Given the description of an element on the screen output the (x, y) to click on. 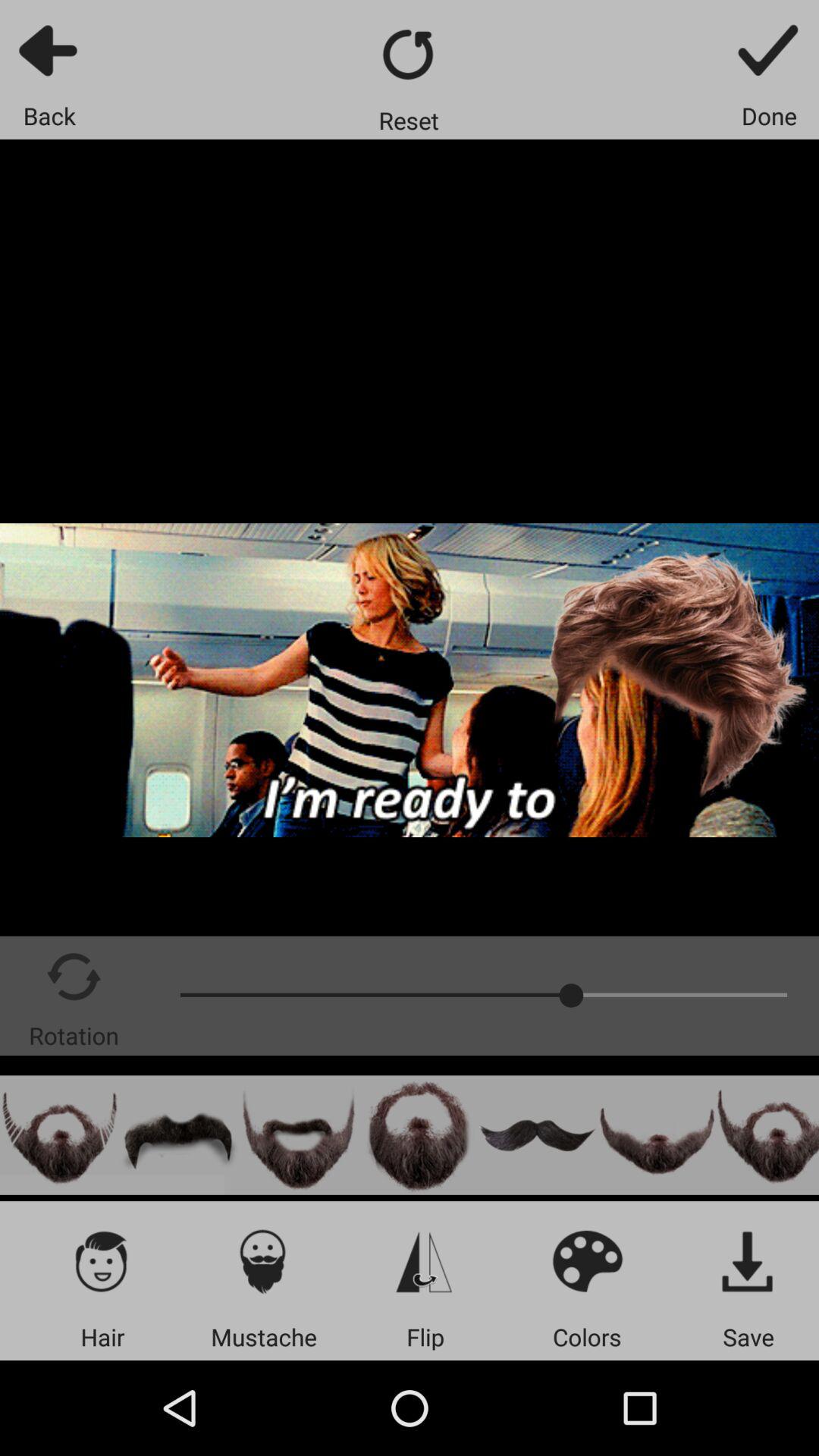
a filter of a beard (656, 1134)
